Given the description of an element on the screen output the (x, y) to click on. 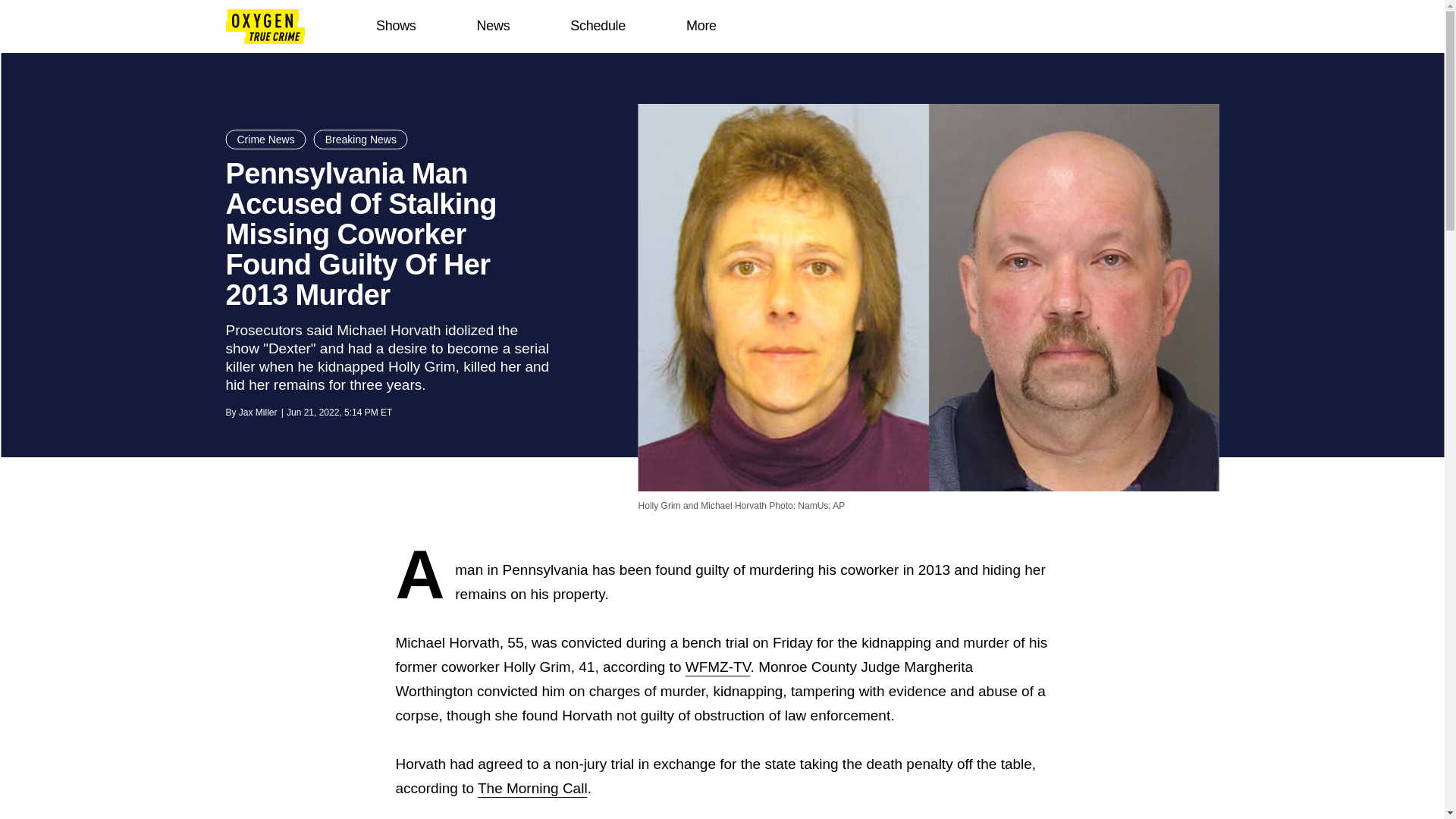
WFMZ-TV (718, 666)
Breaking News (360, 139)
Crime News (265, 139)
Shows (395, 26)
Jax Miller (258, 412)
News (492, 26)
The Morning Call (532, 788)
Schedule (598, 26)
More (700, 26)
